Given the description of an element on the screen output the (x, y) to click on. 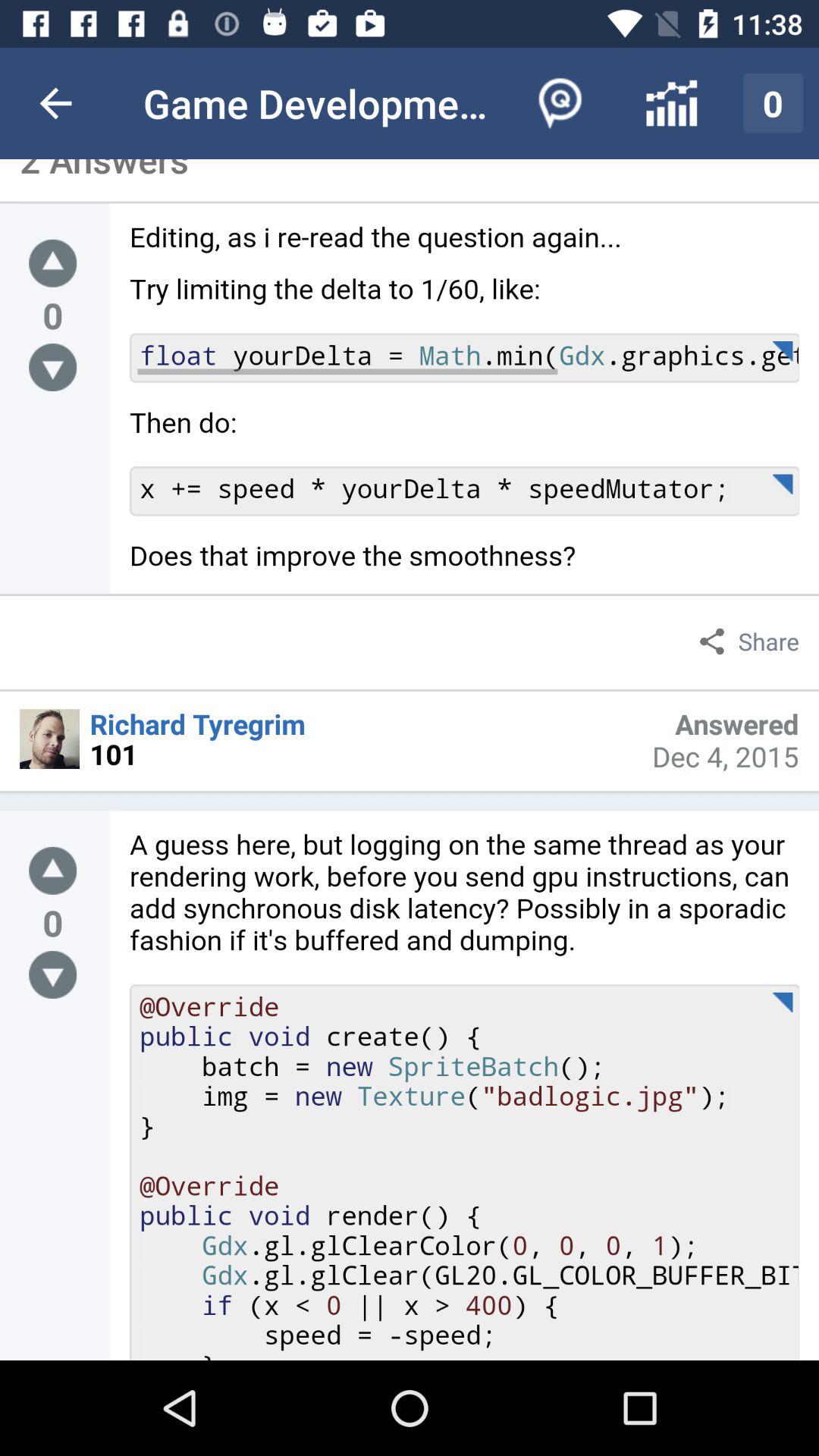
image option of the mail (49, 738)
